Given the description of an element on the screen output the (x, y) to click on. 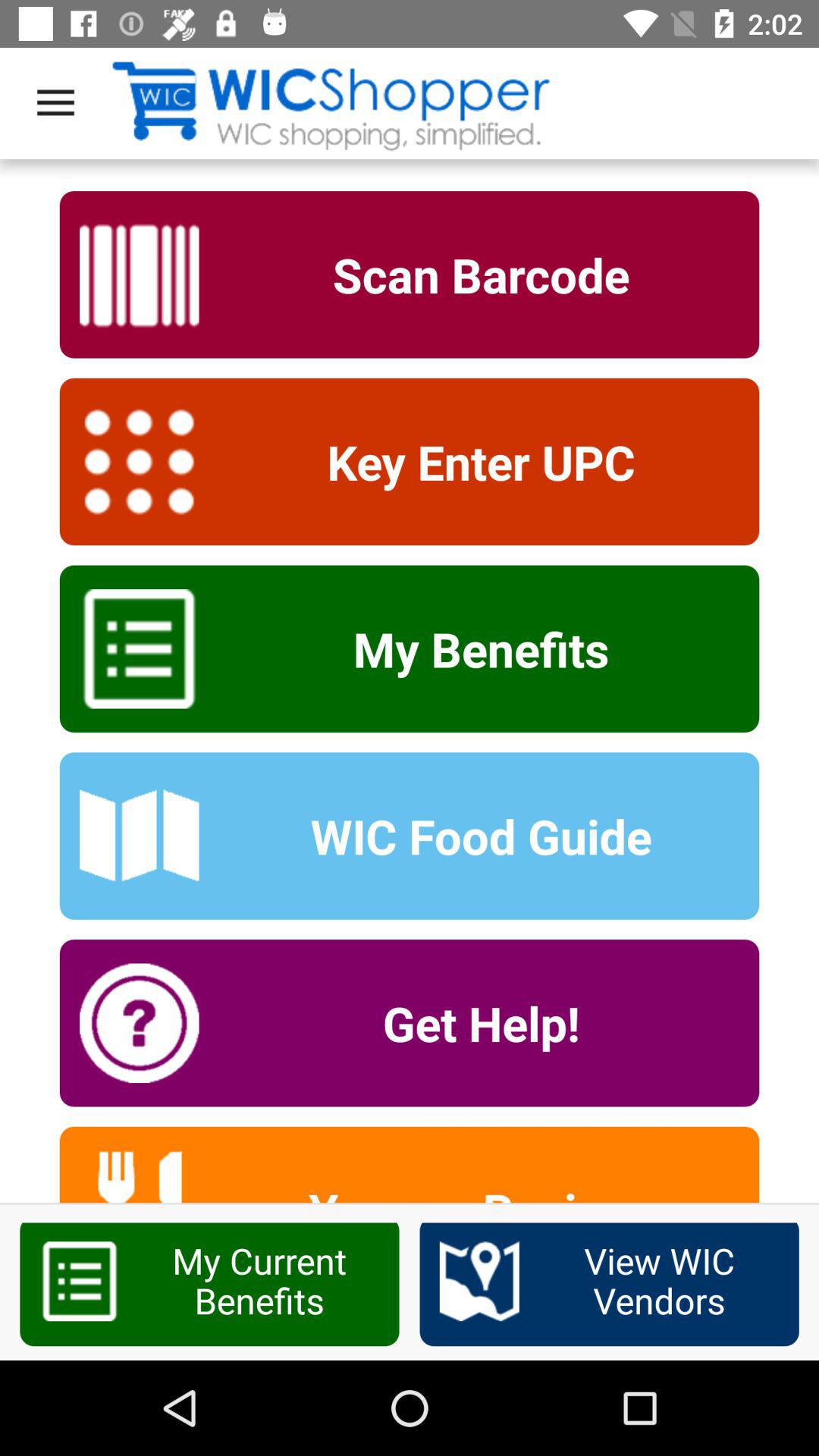
scroll to the get help! item (471, 1023)
